Given the description of an element on the screen output the (x, y) to click on. 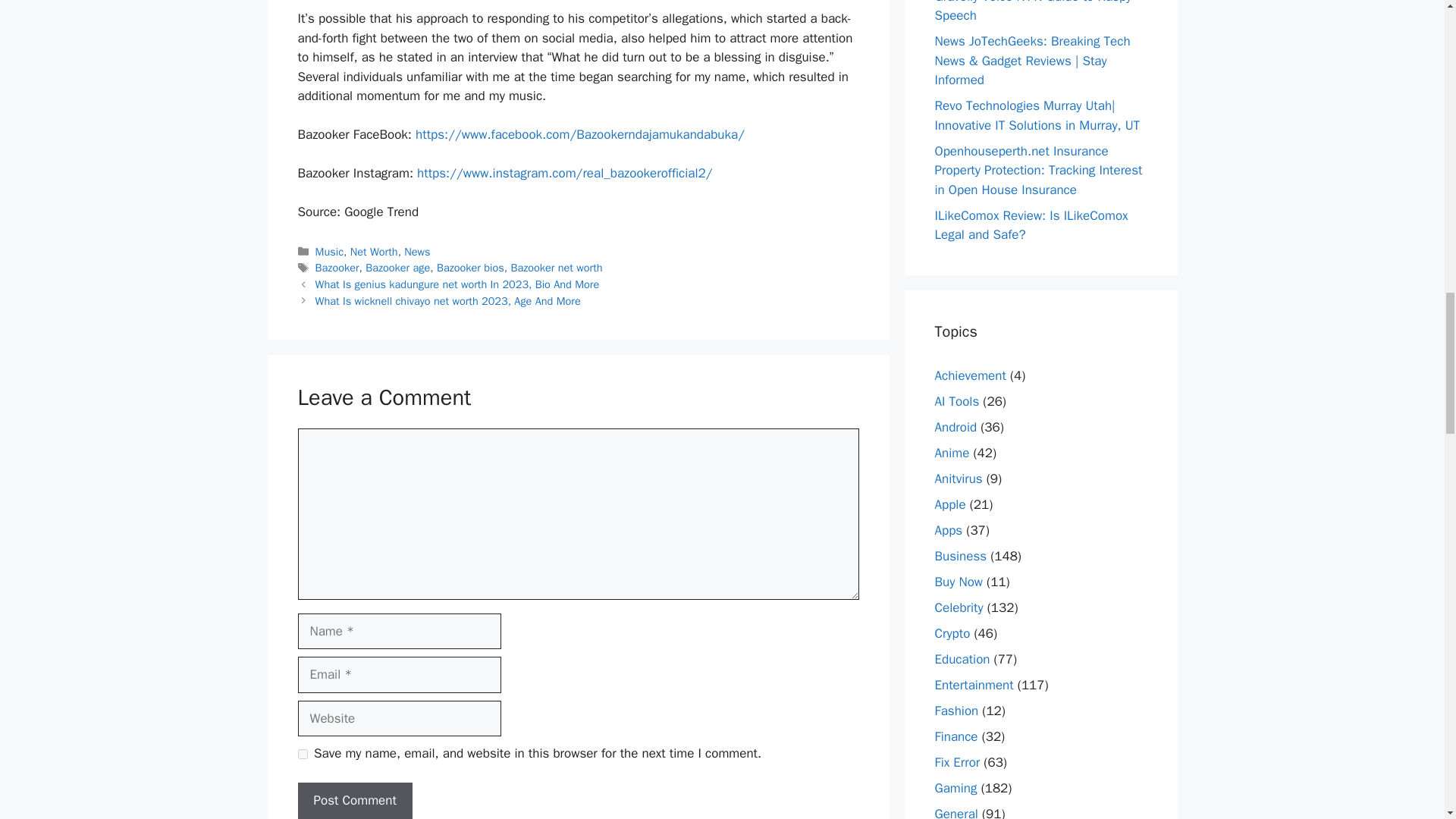
What Is wicknell chivayo net worth 2023, Age And More (447, 300)
Net Worth (373, 251)
News (416, 251)
Post Comment (354, 800)
What Is genius kadungure net worth In 2023, Bio And More (457, 284)
Bazooker age (397, 267)
Bazooker (337, 267)
yes (302, 754)
Bazooker bios (469, 267)
Music (329, 251)
Post Comment (354, 800)
Bazooker net worth (556, 267)
